Given the description of an element on the screen output the (x, y) to click on. 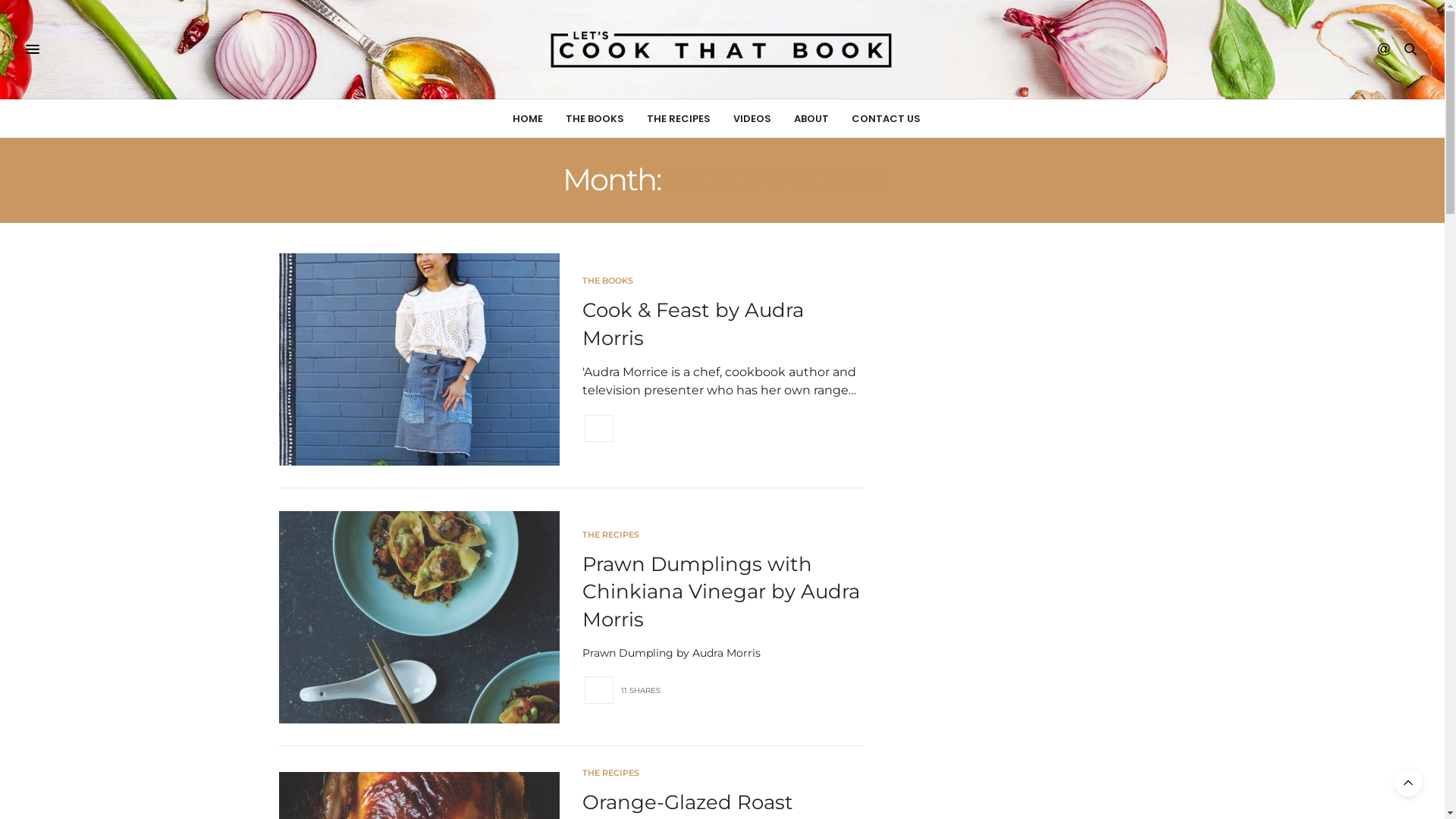
Cook & Feast by Audra Morris Element type: text (692, 323)
THE BOOKS Element type: text (594, 118)
THE RECIPES Element type: text (678, 118)
THE BOOKS Element type: text (607, 280)
Cook & Feast by Audra Morris Element type: hover (419, 359)
THE RECIPES Element type: text (610, 772)
ABOUT Element type: text (810, 118)
Prawn Dumplings with Chinkiana Vinegar by Audra Morris Element type: hover (419, 617)
THE RECIPES Element type: text (610, 534)
CONTACT US Element type: text (885, 118)
VIDEOS Element type: text (752, 118)
Lets Cook That Book Element type: hover (721, 48)
Prawn Dumplings with Chinkiana Vinegar by Audra Morris Element type: text (720, 591)
HOME Element type: text (527, 118)
Scroll To Top Element type: hover (1407, 782)
